Given the description of an element on the screen output the (x, y) to click on. 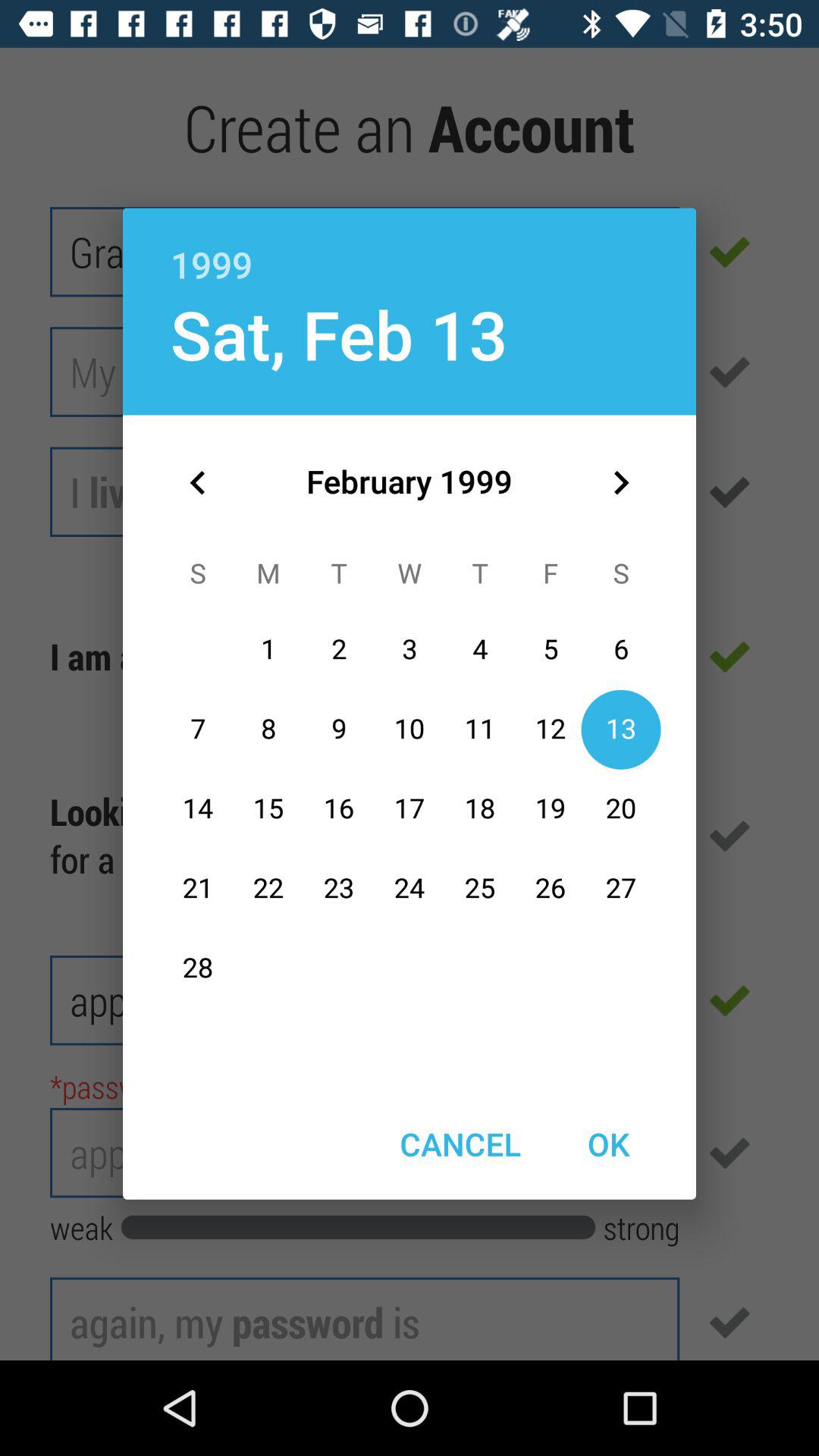
press icon at the top right corner (620, 482)
